Given the description of an element on the screen output the (x, y) to click on. 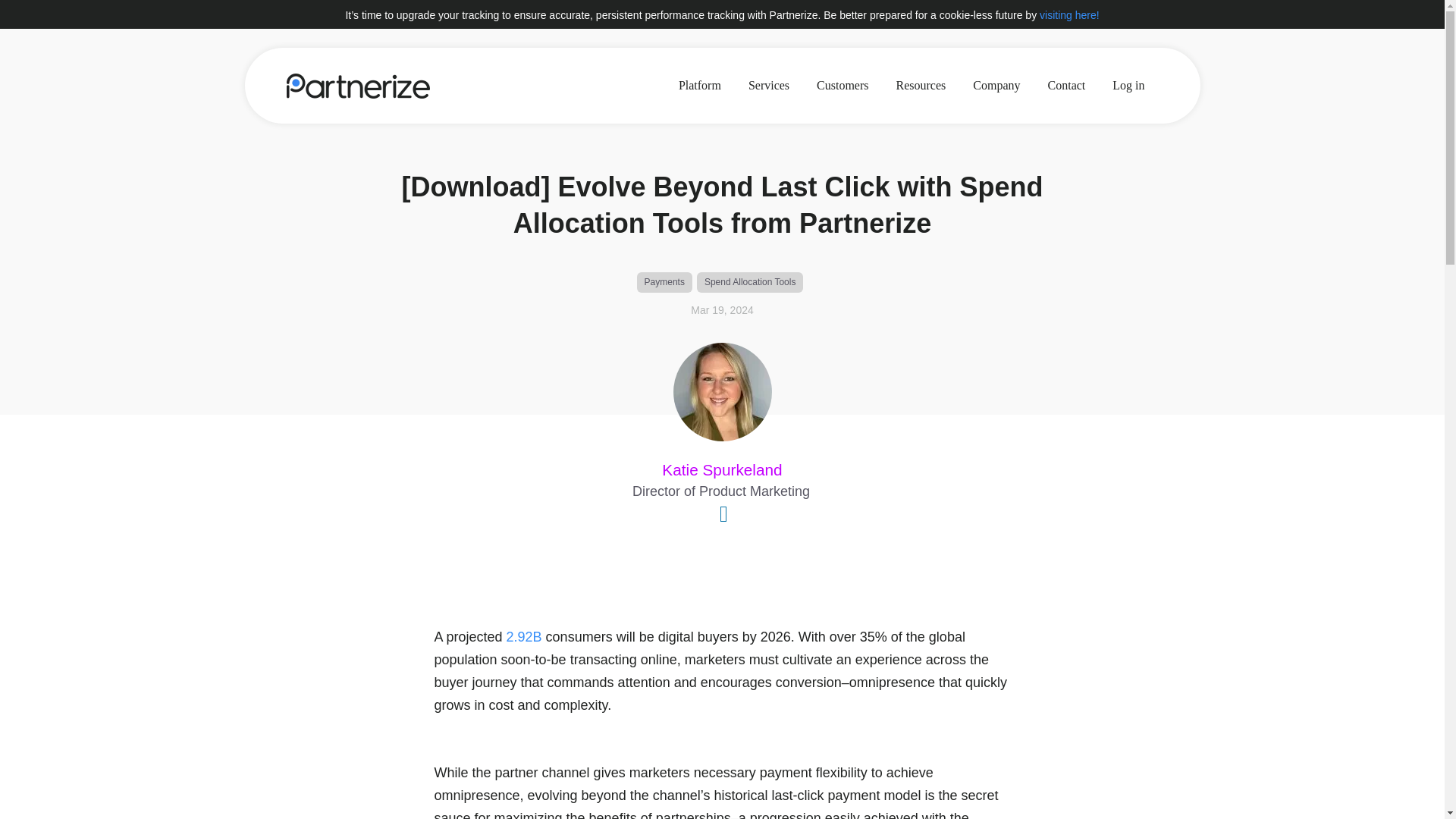
Platform (700, 85)
Partnerize (357, 84)
Customers (842, 85)
visiting here! (1069, 15)
Services (769, 85)
